Given the description of an element on the screen output the (x, y) to click on. 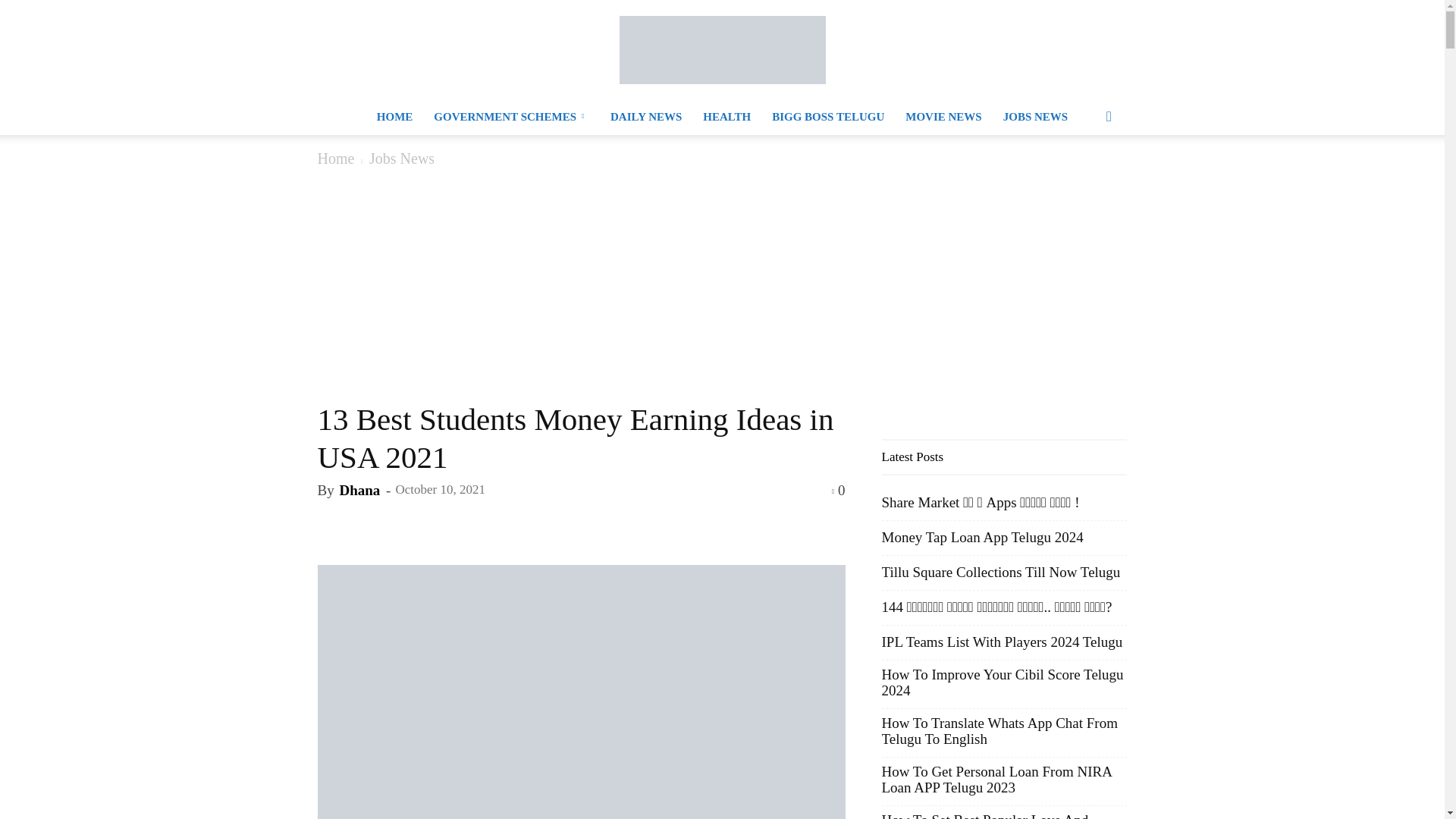
GOVERNMENT SCHEMES (511, 116)
Advertisement (580, 287)
HOME (394, 116)
